Given the description of an element on the screen output the (x, y) to click on. 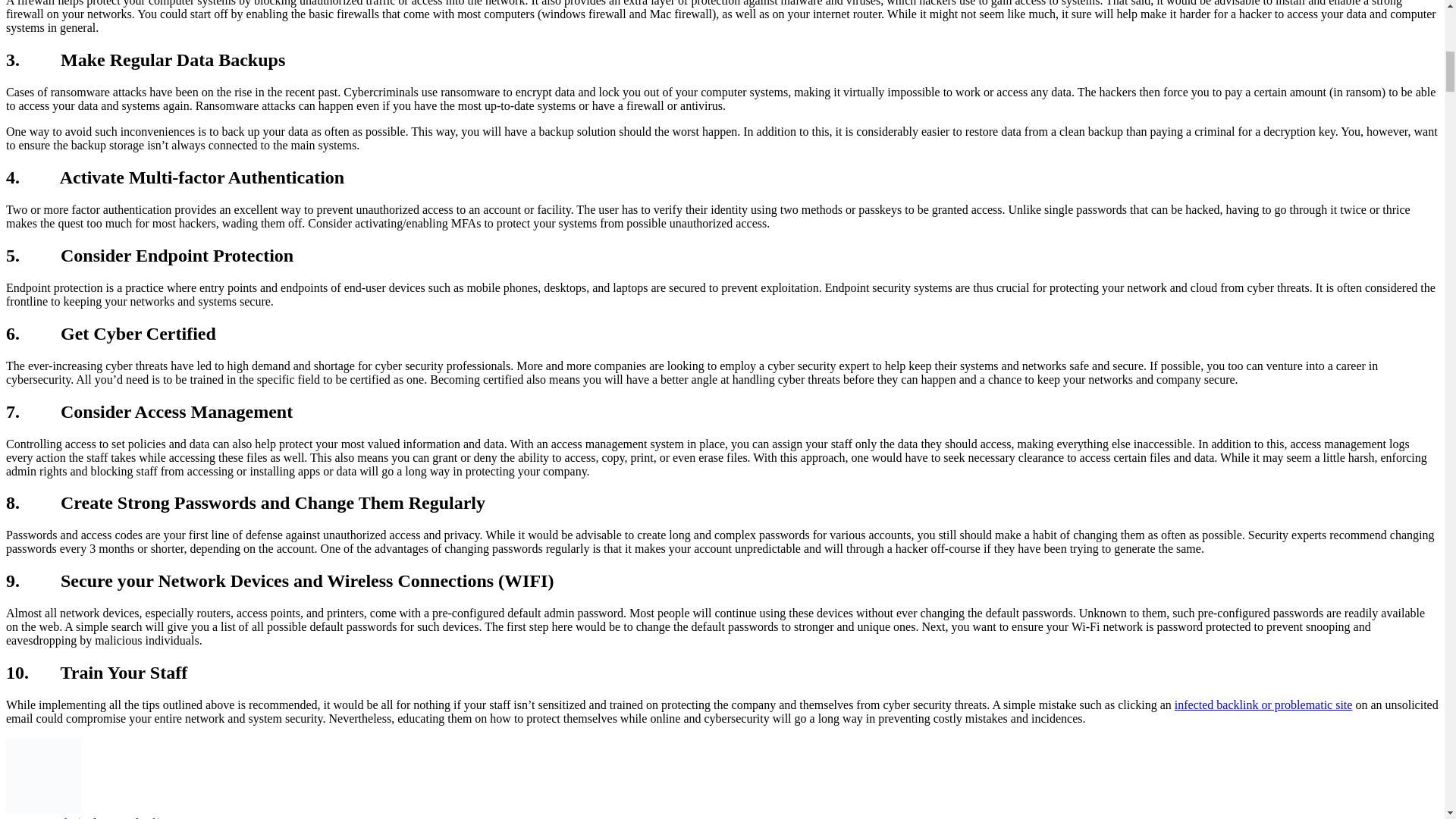
infected backlink or problematic site (1263, 704)
James Smythe (40, 817)
6658afeebfcb2c289ed52f37daf69159 (43, 775)
